Given the description of an element on the screen output the (x, y) to click on. 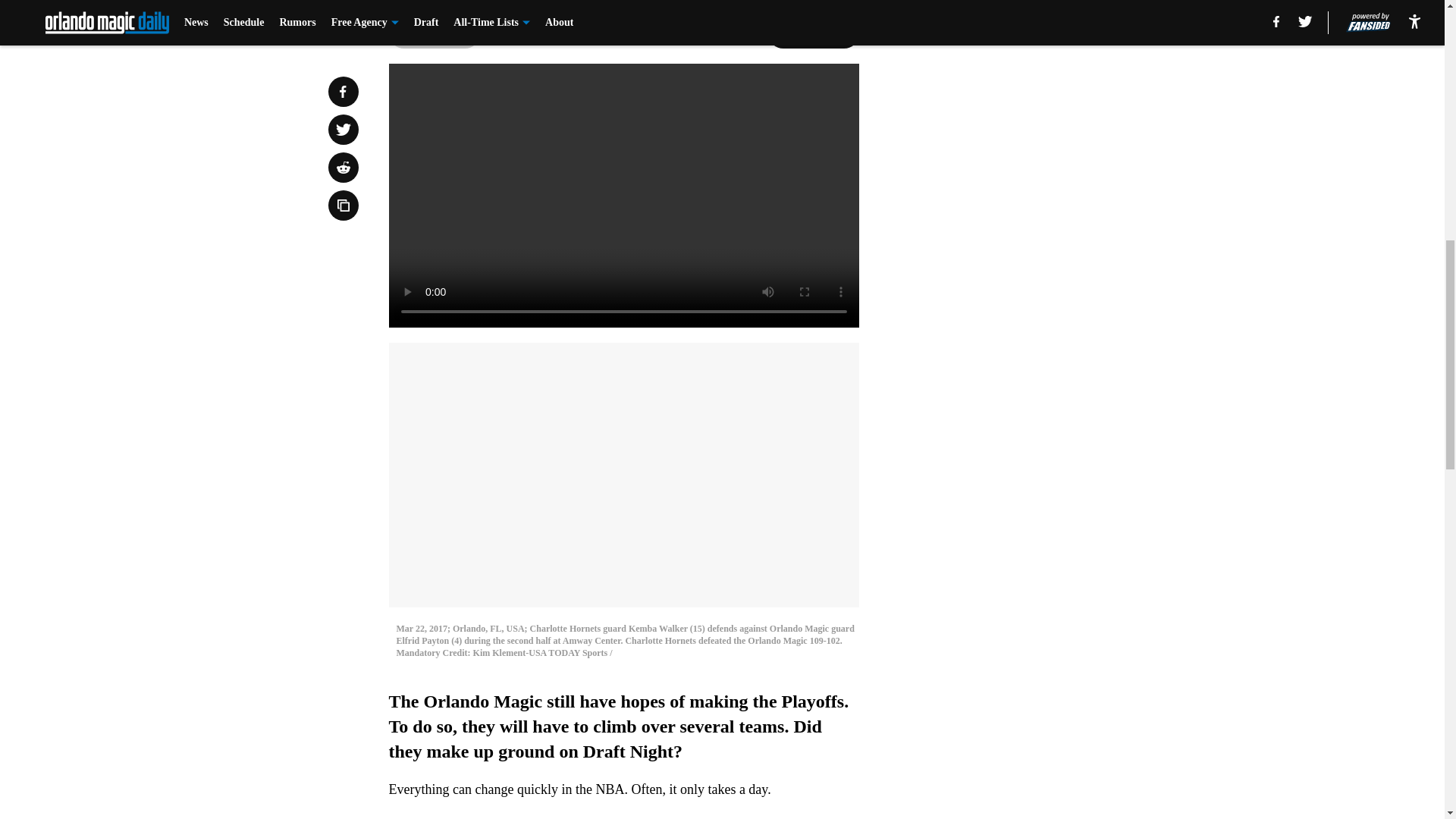
Next (813, 33)
3rd party ad content (1047, 332)
3rd party ad content (1047, 113)
Prev (433, 33)
